Given the description of an element on the screen output the (x, y) to click on. 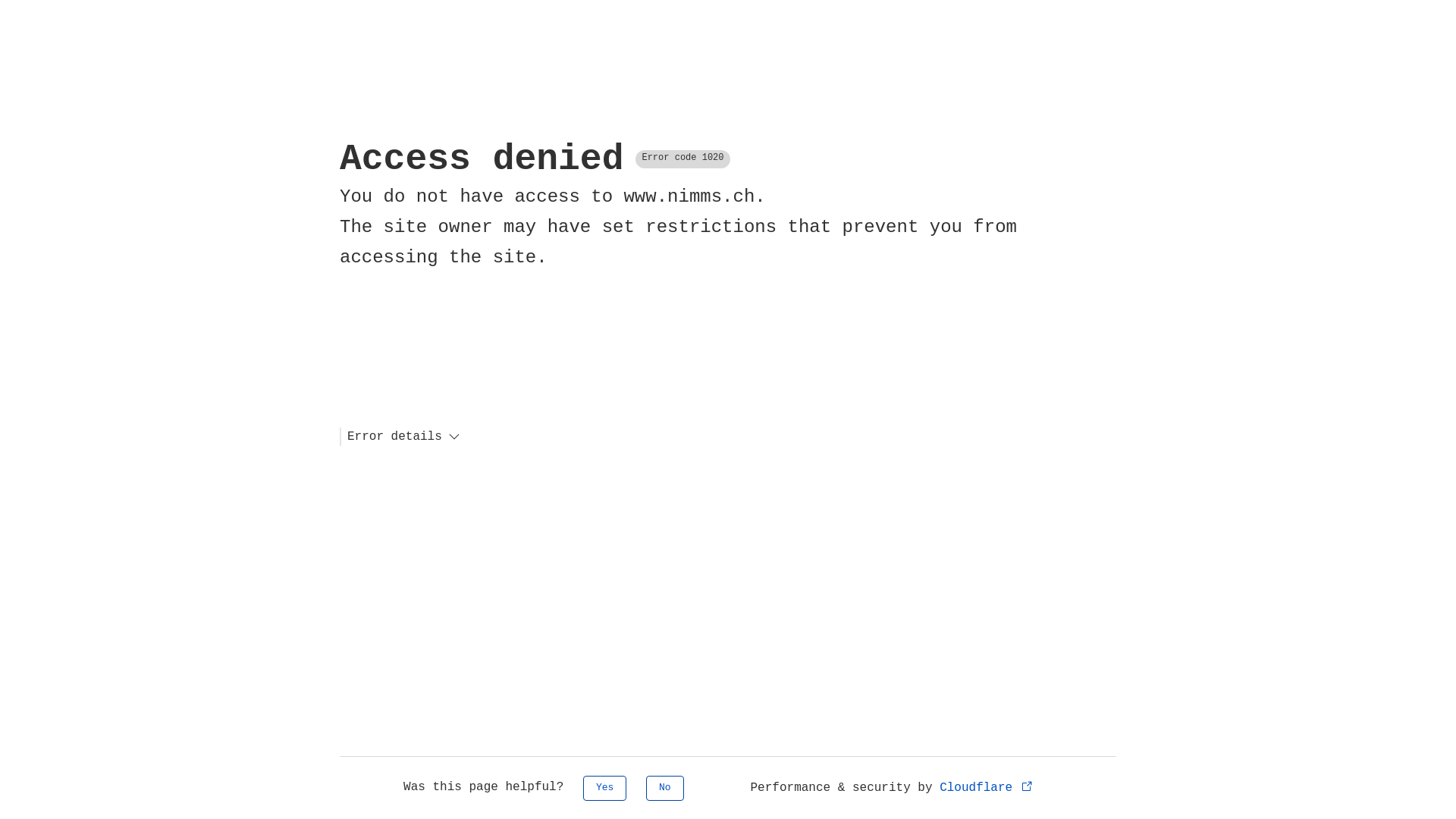
Yes Element type: text (604, 787)
Opens in new tab Element type: hover (1027, 785)
No Element type: text (665, 787)
Cloudflare Element type: text (986, 787)
